Given the description of an element on the screen output the (x, y) to click on. 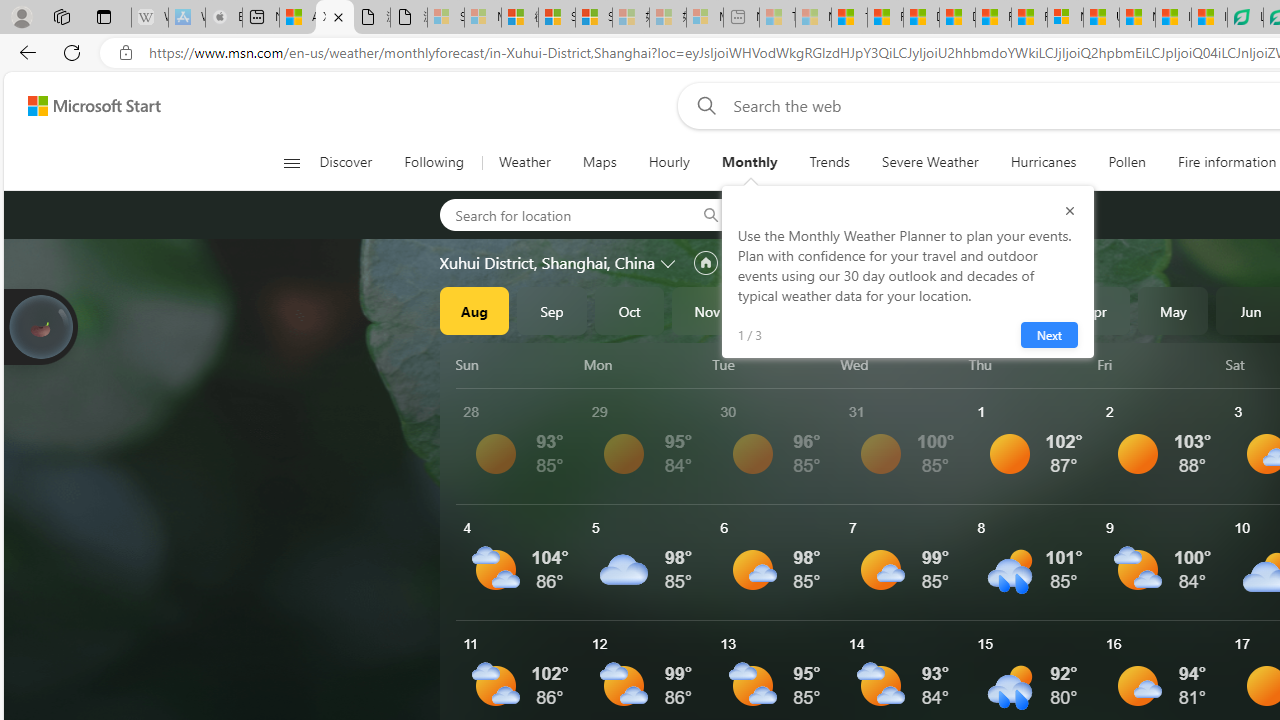
Mar (1018, 310)
Monthly (749, 162)
See More Details (1162, 561)
2025Jan (862, 310)
Nov (707, 310)
Dec (785, 310)
